Given the description of an element on the screen output the (x, y) to click on. 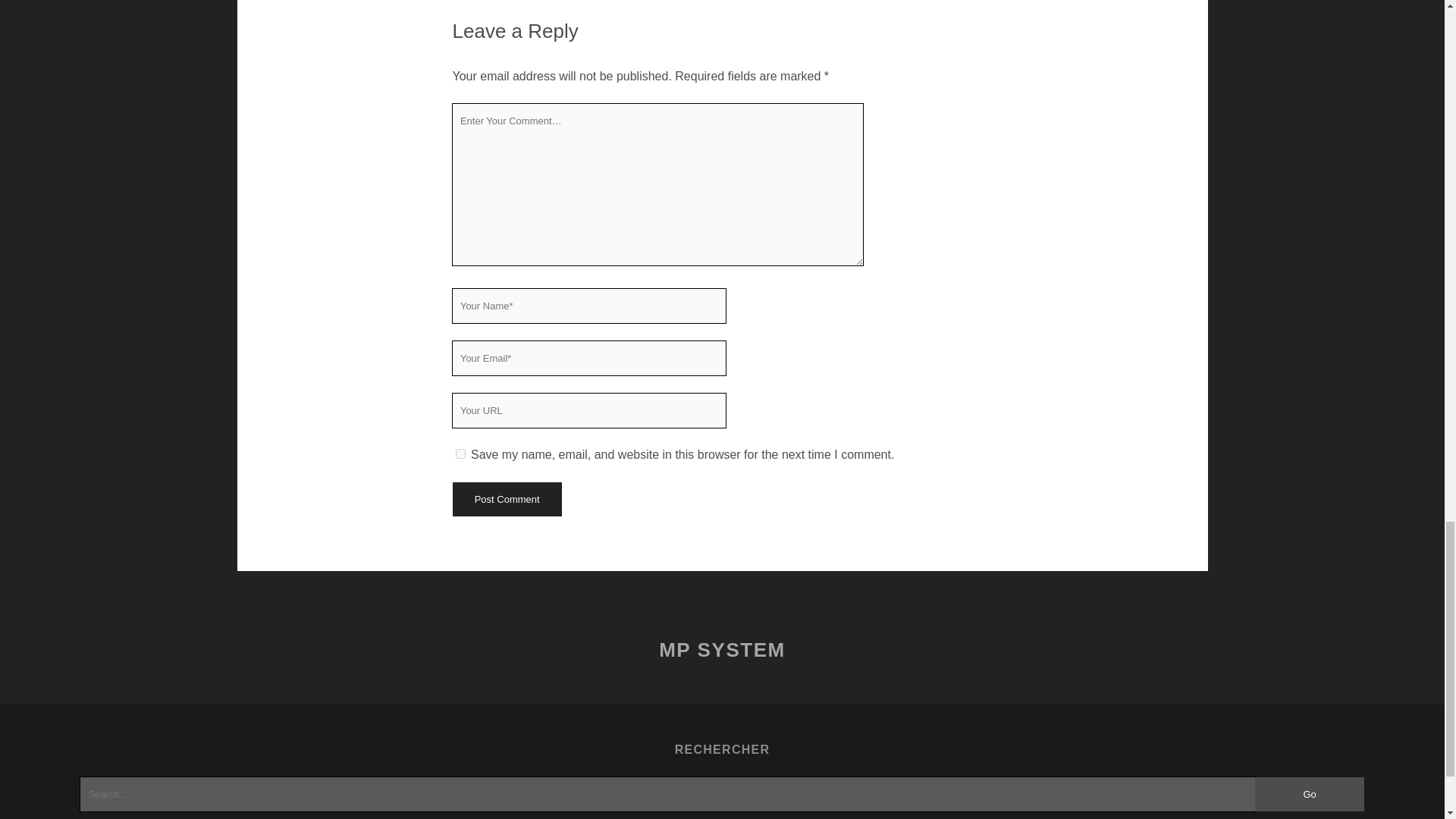
MP SYSTEM (722, 649)
Search for: (667, 794)
yes (459, 453)
Go (1309, 794)
Go (1309, 794)
Post Comment (505, 499)
Go (1309, 794)
Post Comment (505, 499)
